Given the description of an element on the screen output the (x, y) to click on. 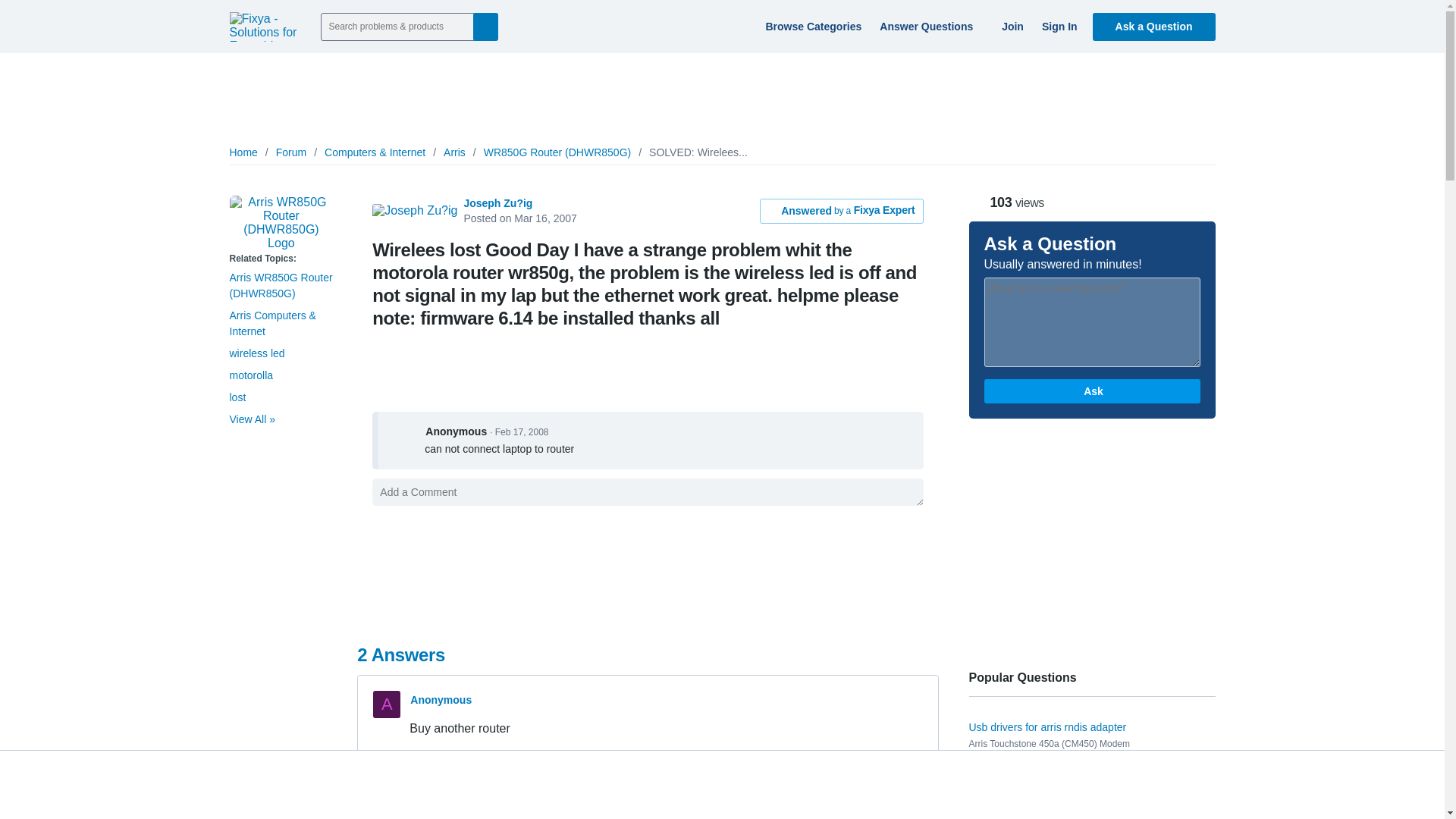
Search Fixya (485, 26)
wireless led (255, 353)
Answer Questions (929, 26)
Search Fixya (485, 26)
motorolla (250, 375)
Arris (454, 152)
Sign In (1056, 26)
Ask (1091, 391)
Home (242, 152)
Forum (290, 152)
lost (237, 397)
Ask a Question (1154, 26)
Search Fixya (485, 26)
Browse Categories (810, 26)
